Given the description of an element on the screen output the (x, y) to click on. 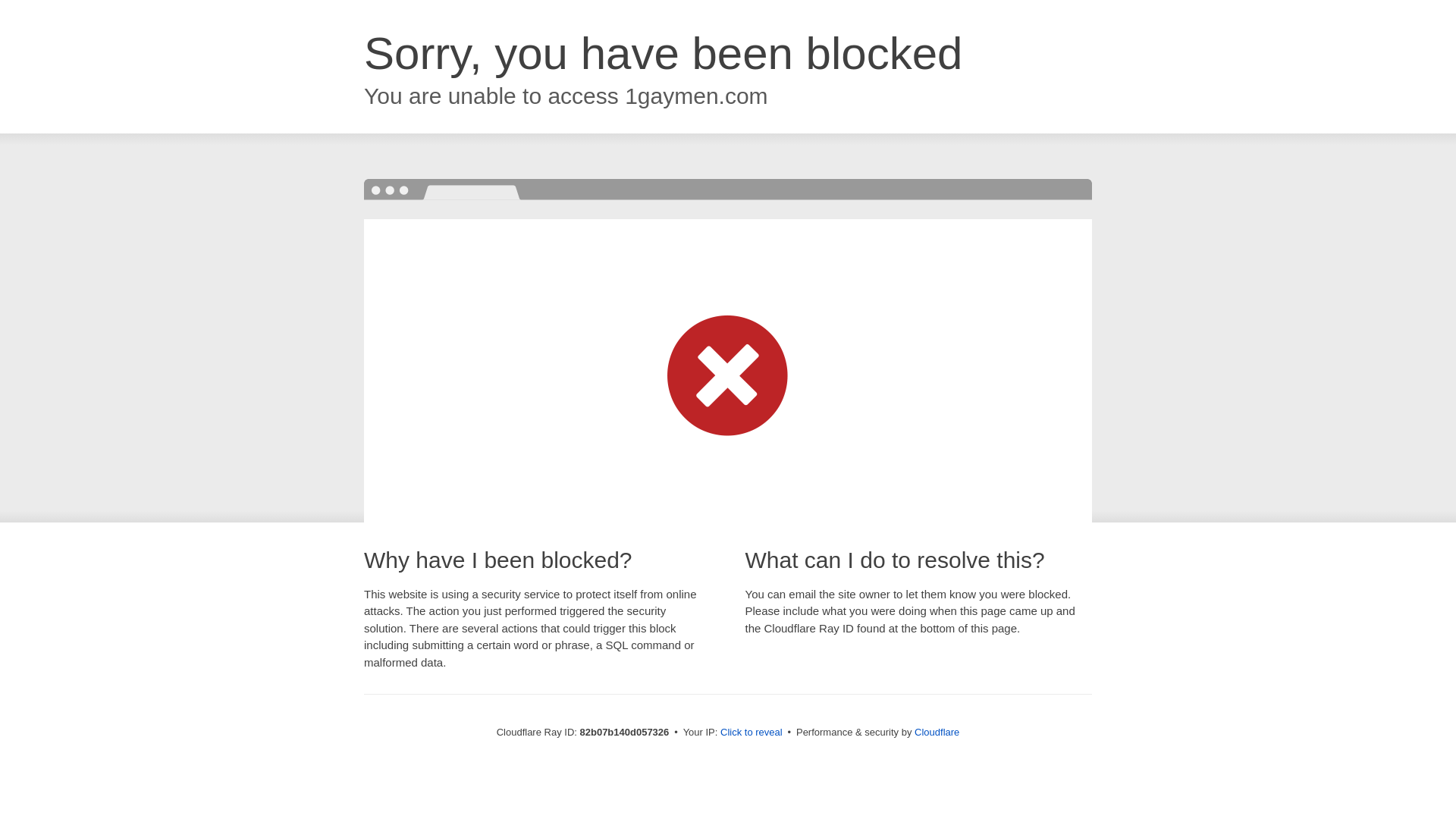
Click to reveal Element type: text (751, 732)
Cloudflare Element type: text (936, 731)
